Given the description of an element on the screen output the (x, y) to click on. 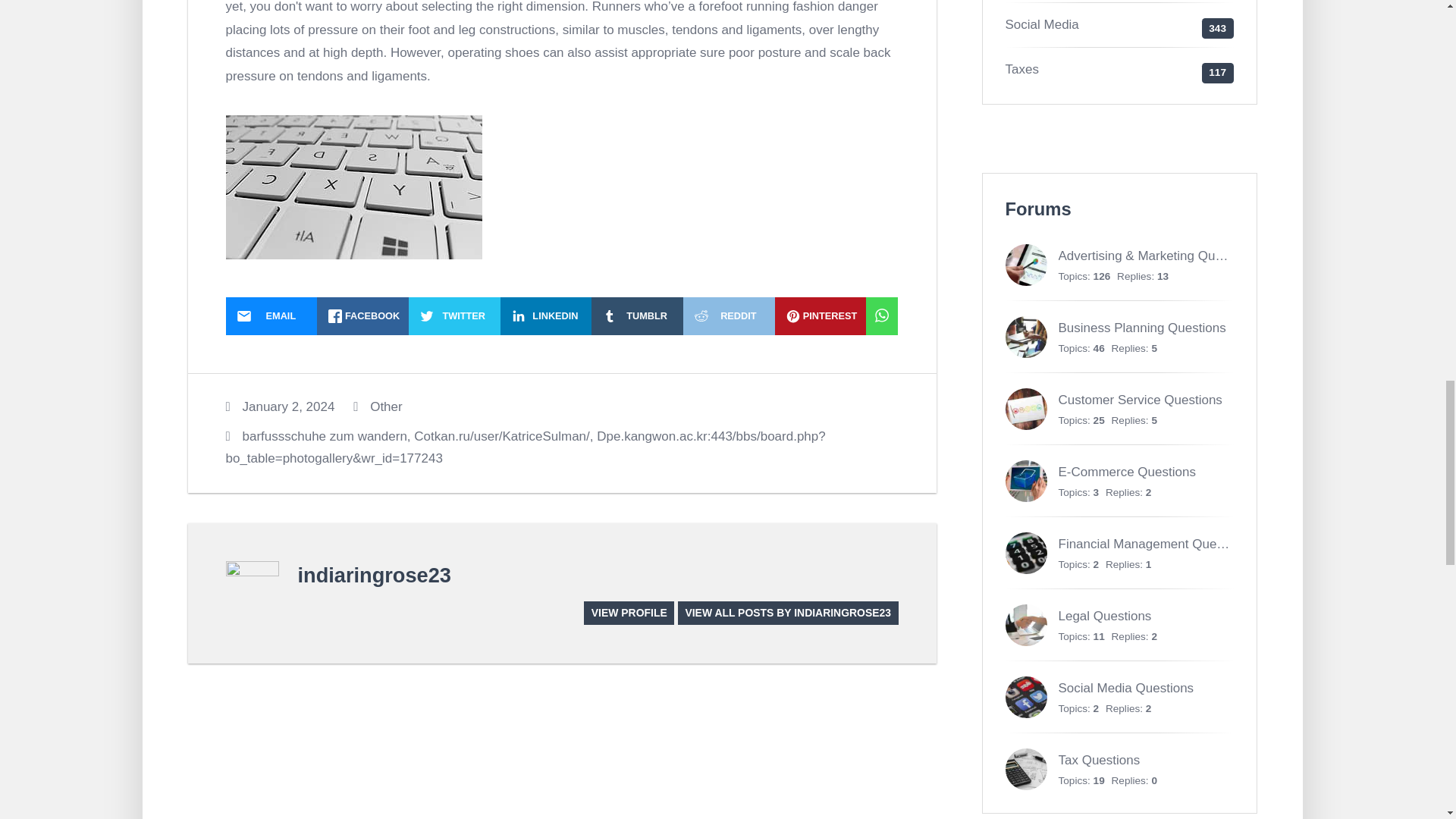
LINKEDIN (546, 315)
PINTEREST (820, 315)
REDDIT (728, 315)
indiaringrose23 (373, 575)
EMAIL (271, 315)
FACEBOOK (363, 315)
TUMBLR (636, 315)
VIEW PROFILE (628, 612)
TWITTER (454, 315)
Other (386, 406)
barfussschuhe zum wandern (325, 436)
VIEW ALL POSTS BY INDIARINGROSE23 (788, 612)
